Given the description of an element on the screen output the (x, y) to click on. 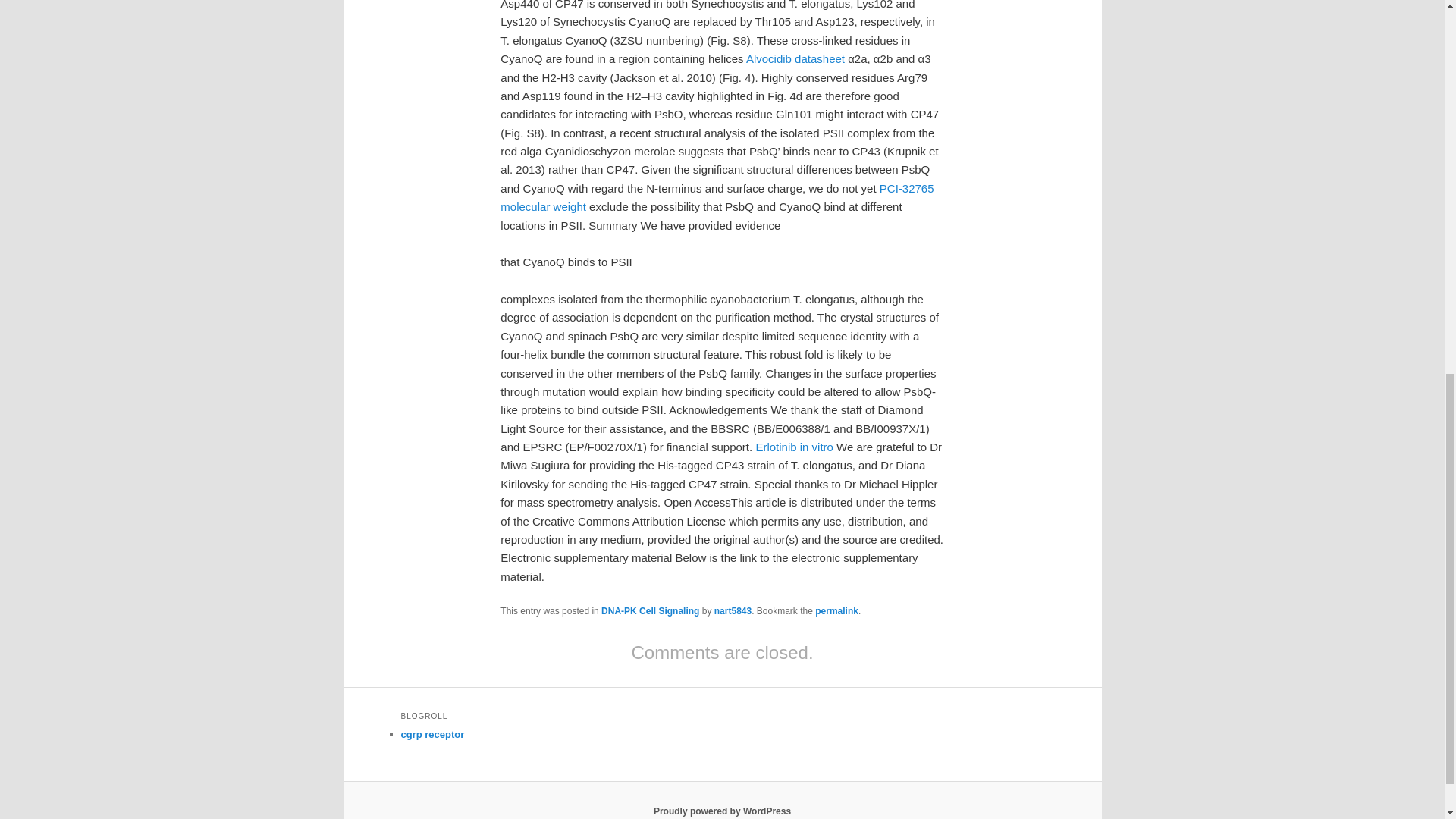
Erlotinib in vitro (793, 446)
cgrp receptor (432, 734)
Alvocidib datasheet (794, 58)
permalink (837, 611)
PCI-32765 molecular weight (716, 196)
Proudly powered by WordPress (721, 810)
nart5843 (732, 611)
Semantic Personal Publishing Platform (721, 810)
DNA-PK Cell Signaling (649, 611)
View all posts in DNA-PK Cell Signaling (649, 611)
